Given the description of an element on the screen output the (x, y) to click on. 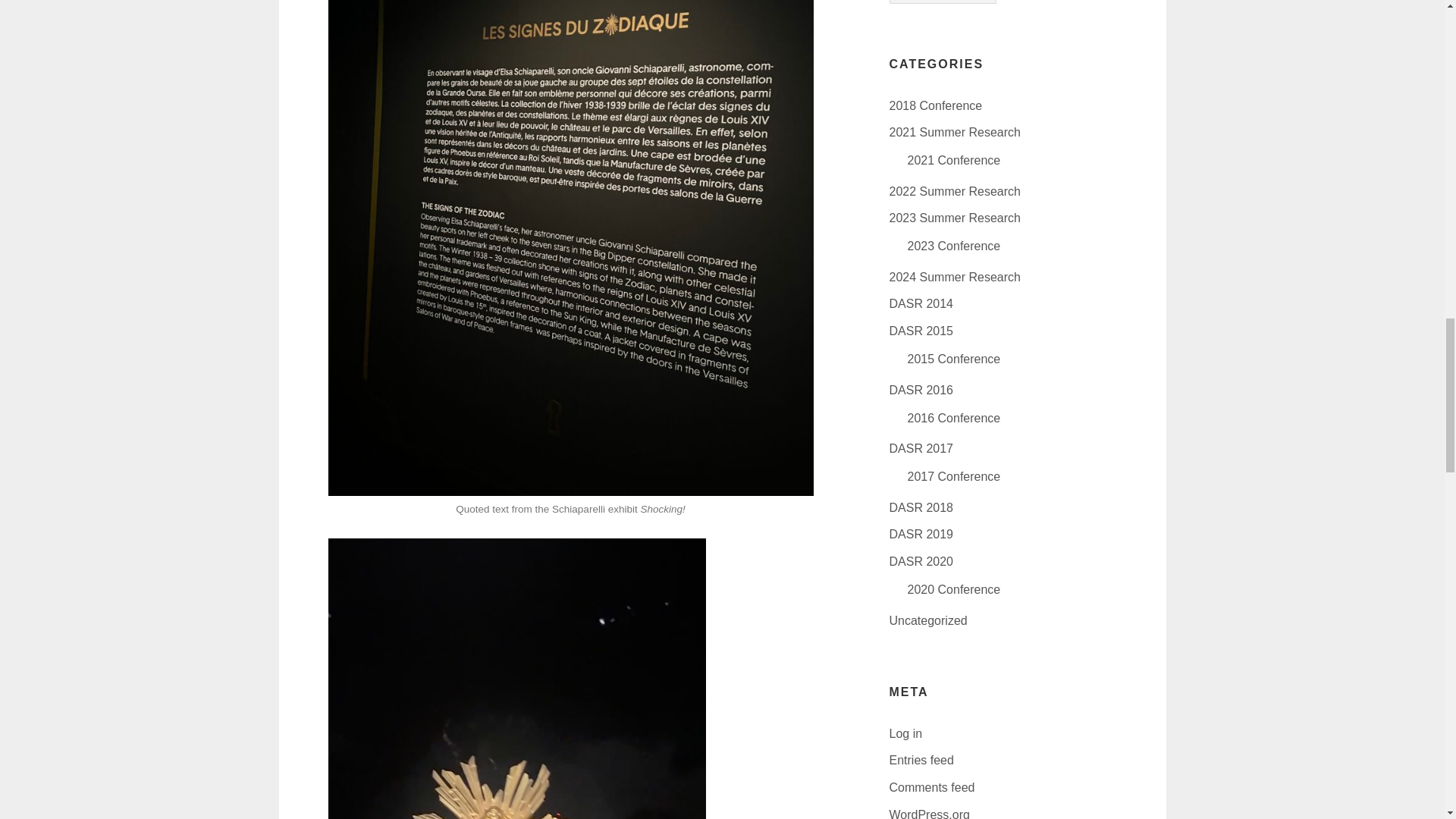
2021 Conference (953, 160)
2021 Summer Research (954, 132)
DASR 2014 (920, 303)
2023 Summer Research (954, 217)
2018 Conference (934, 105)
2024 Summer Research (954, 277)
2022 Summer Research (954, 191)
2023 Conference (953, 245)
